Given the description of an element on the screen output the (x, y) to click on. 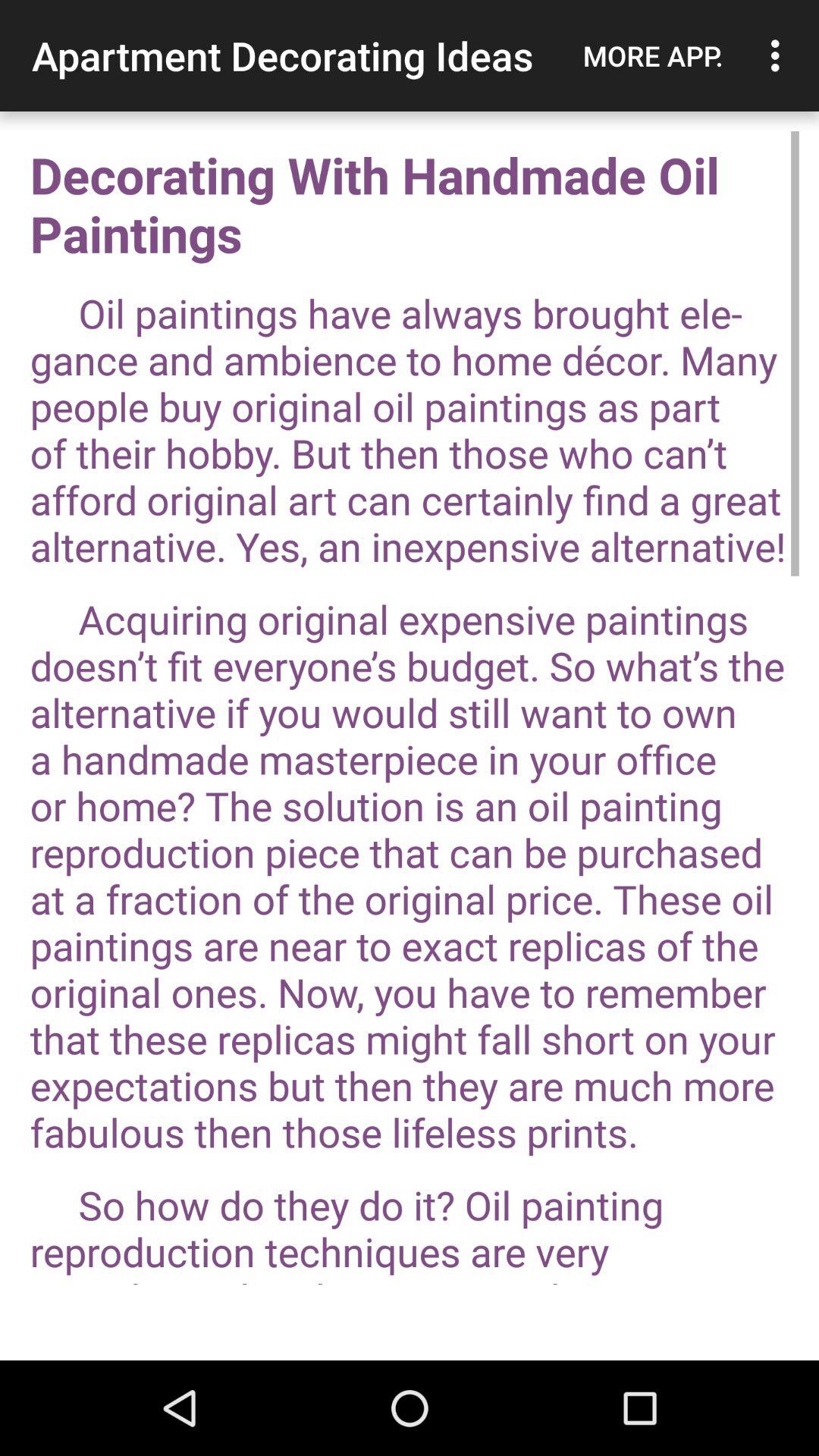
click the item above decorating with handmade app (779, 55)
